Given the description of an element on the screen output the (x, y) to click on. 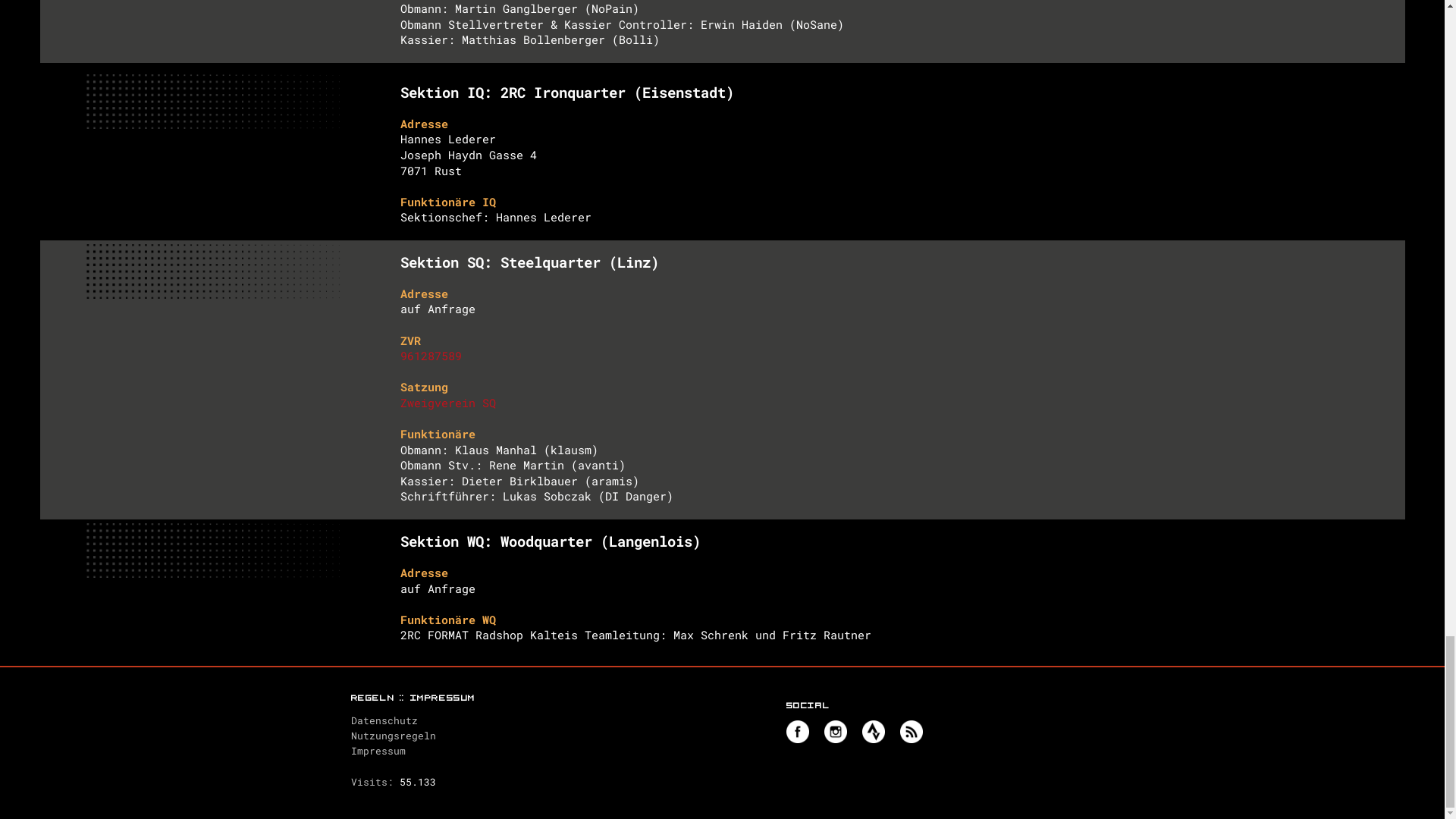
FORUM :: Element type: text (1219, 25)
MEMOIREN :: Element type: text (1157, 25)
VEREIN :: Element type: text (1092, 25)
Vereinsinfo Element type: hover (721, 400)
KONTAKT Element type: text (1377, 25)
SHOP :: Element type: text (1267, 25)
ARCHIV :: Element type: text (1319, 25)
HOME :: Element type: text (1040, 25)
